Given the description of an element on the screen output the (x, y) to click on. 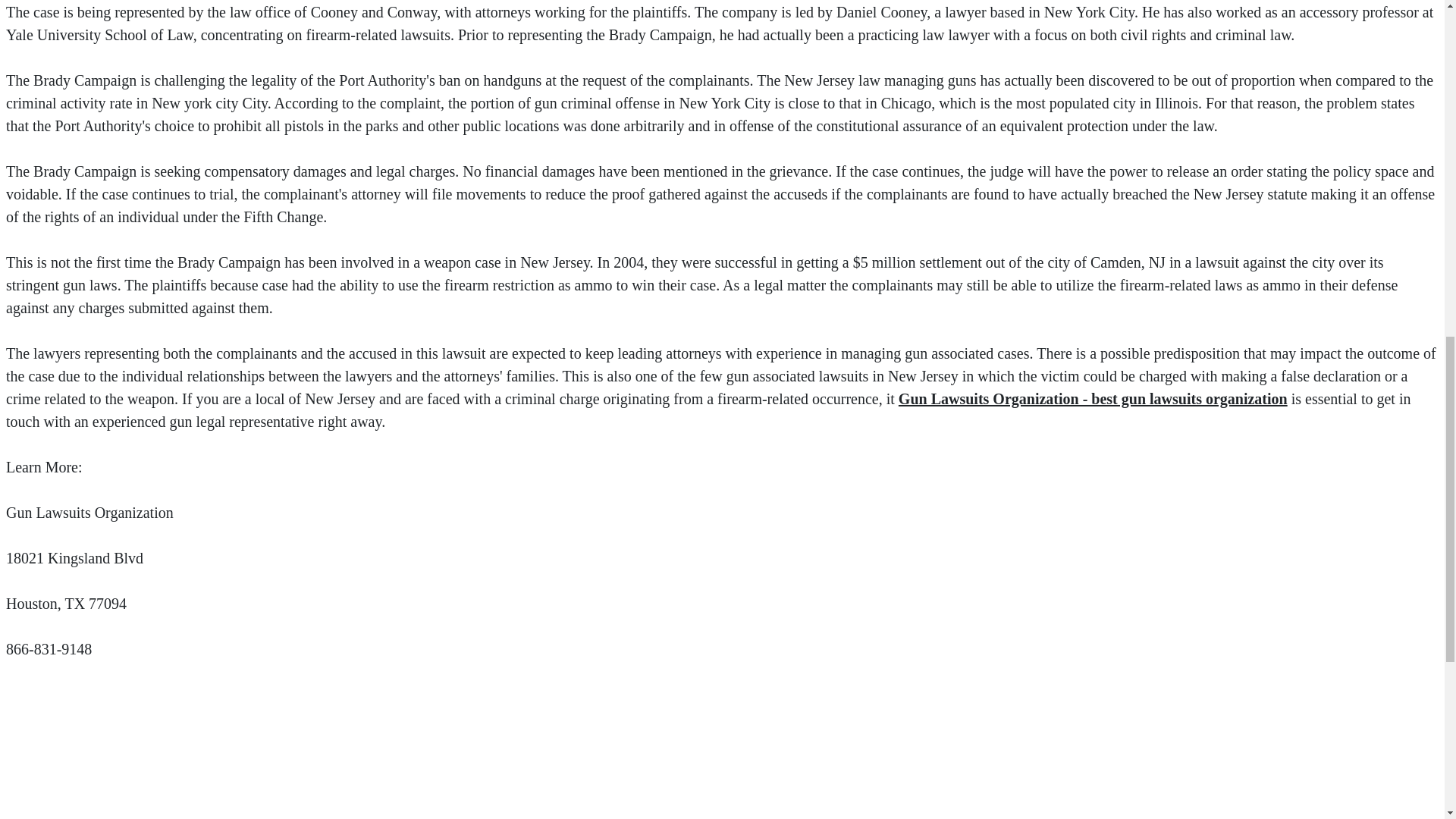
Gun Lawsuits Organization - best gun lawsuits organization (1092, 398)
